Given the description of an element on the screen output the (x, y) to click on. 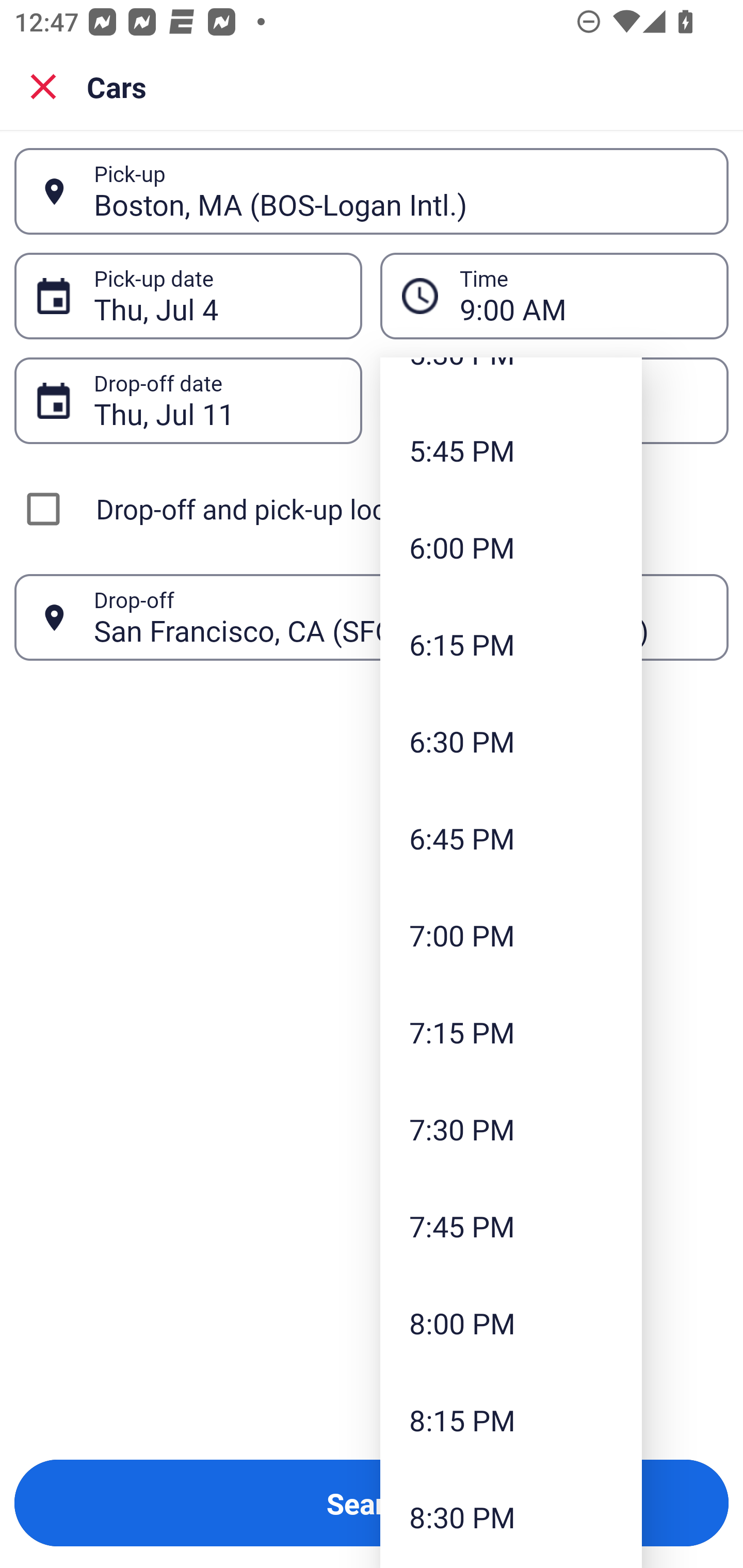
5:45 PM (510, 449)
6:00 PM (510, 546)
6:15 PM (510, 644)
6:30 PM (510, 741)
6:45 PM (510, 837)
7:00 PM (510, 934)
7:15 PM (510, 1031)
7:30 PM (510, 1128)
7:45 PM (510, 1225)
8:00 PM (510, 1323)
8:15 PM (510, 1420)
8:30 PM (510, 1516)
